Given the description of an element on the screen output the (x, y) to click on. 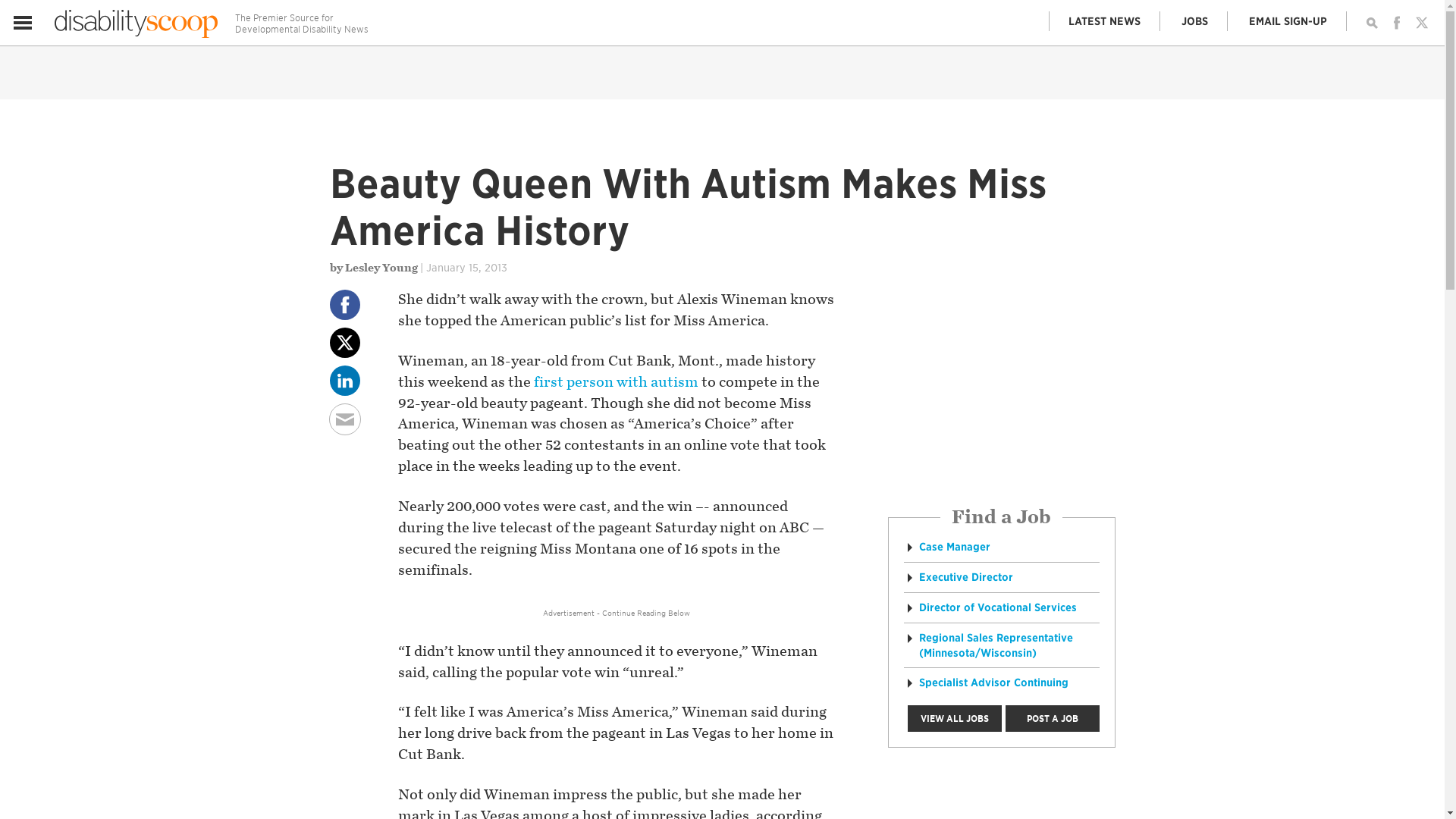
EMAIL SIGN-UP (1288, 21)
Search (1371, 22)
Facebook (1396, 22)
Menu (22, 22)
LATEST NEWS (1104, 21)
Twitter (1421, 22)
JOBS (1194, 21)
